Given the description of an element on the screen output the (x, y) to click on. 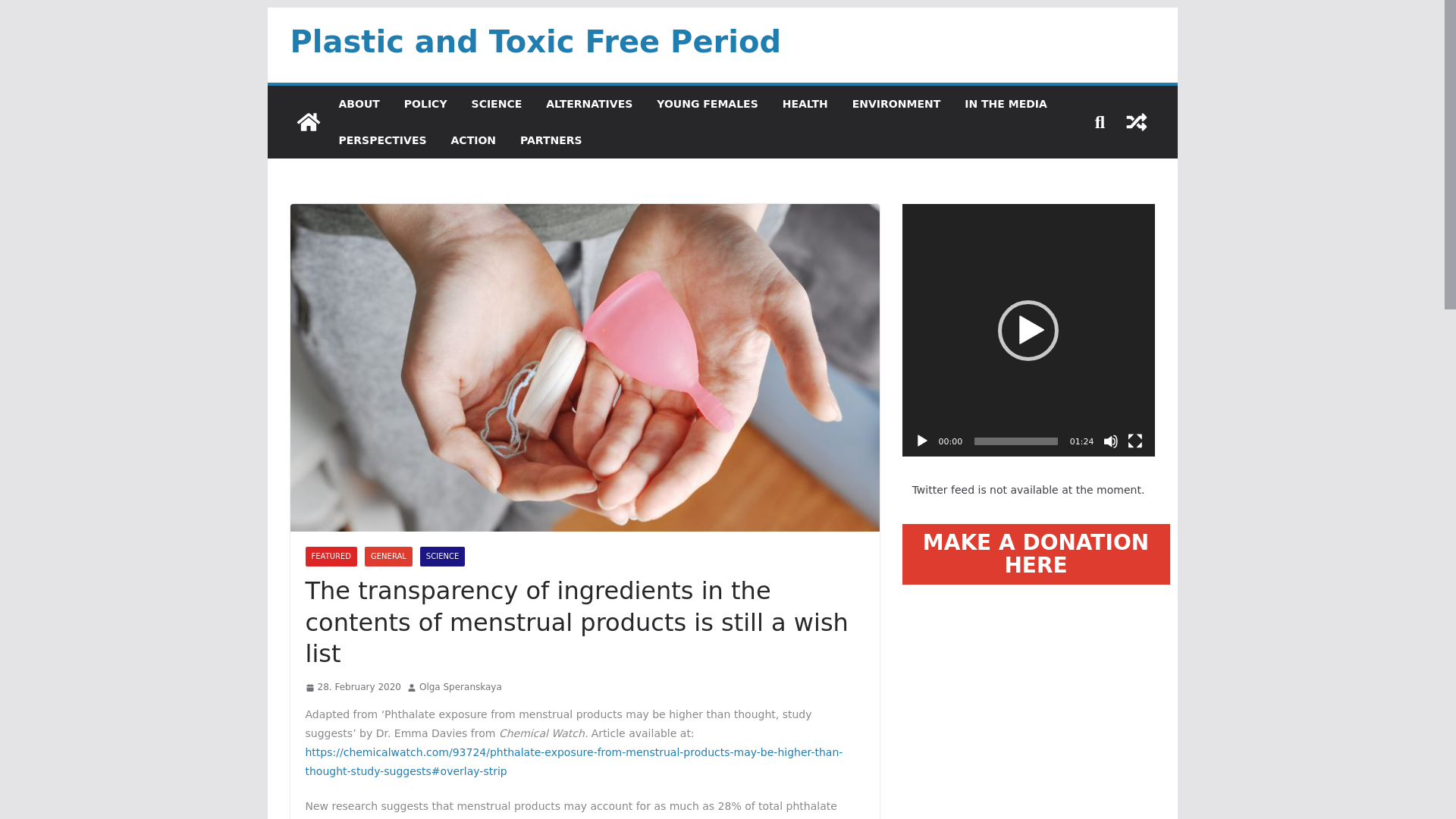
SCIENCE (496, 103)
POLICY (425, 103)
SCIENCE (442, 556)
Plastic and Toxic Free Period (534, 41)
YOUNG FEMALES (706, 103)
28. February 2020 (352, 687)
Olga Speranskaya (460, 687)
HEALTH (805, 103)
FEATURED (330, 556)
PERSPECTIVES (381, 139)
View a random post (1136, 122)
ENVIRONMENT (895, 103)
ALTERNATIVES (588, 103)
GENERAL (388, 556)
0:21 (352, 687)
